Given the description of an element on the screen output the (x, y) to click on. 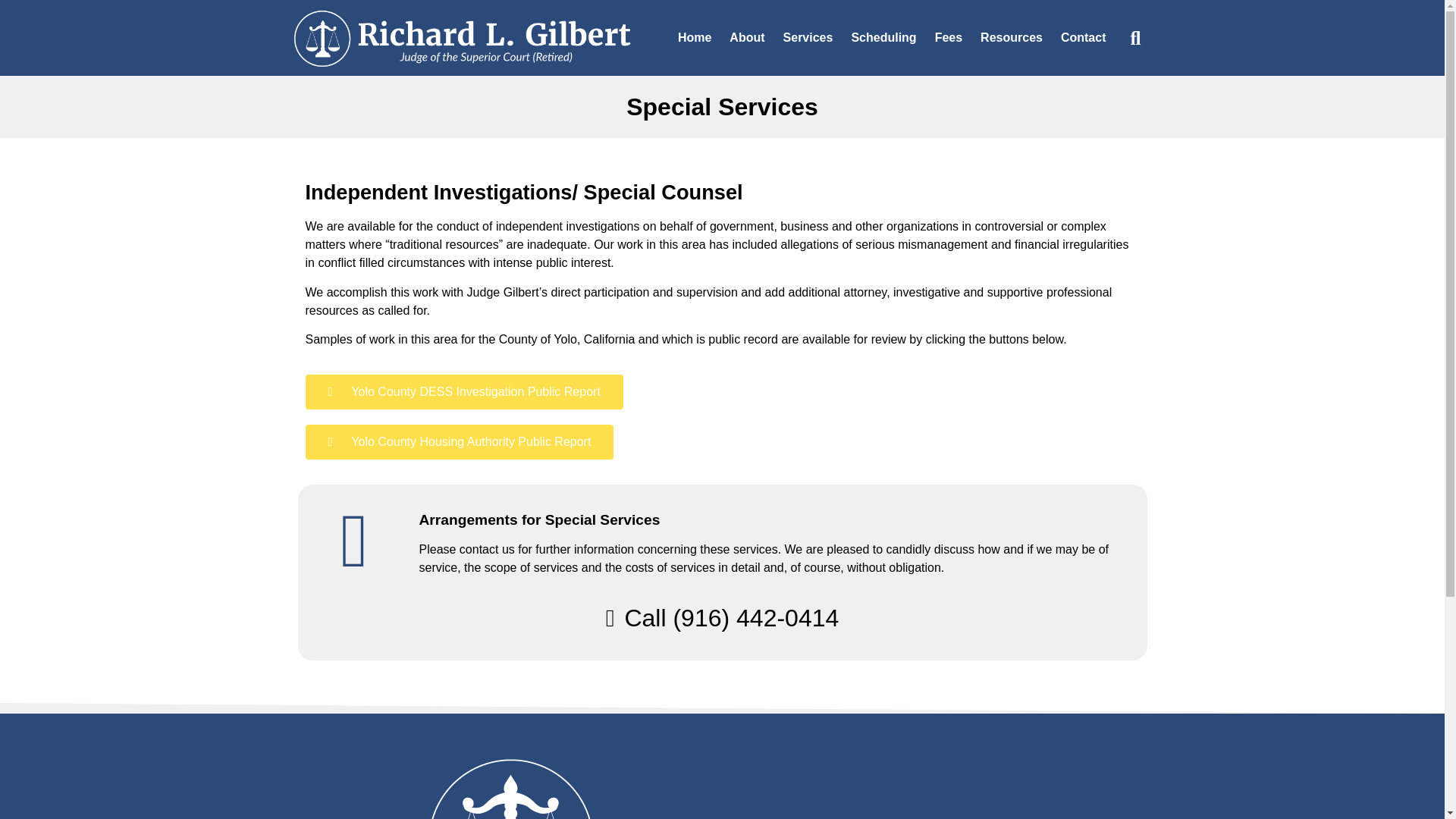
Yolo County Housing Authority Public Report (458, 442)
Resources (1011, 38)
Services (808, 38)
Yolo County DESS Investigation Public Report (463, 391)
Scheduling (882, 38)
